Given the description of an element on the screen output the (x, y) to click on. 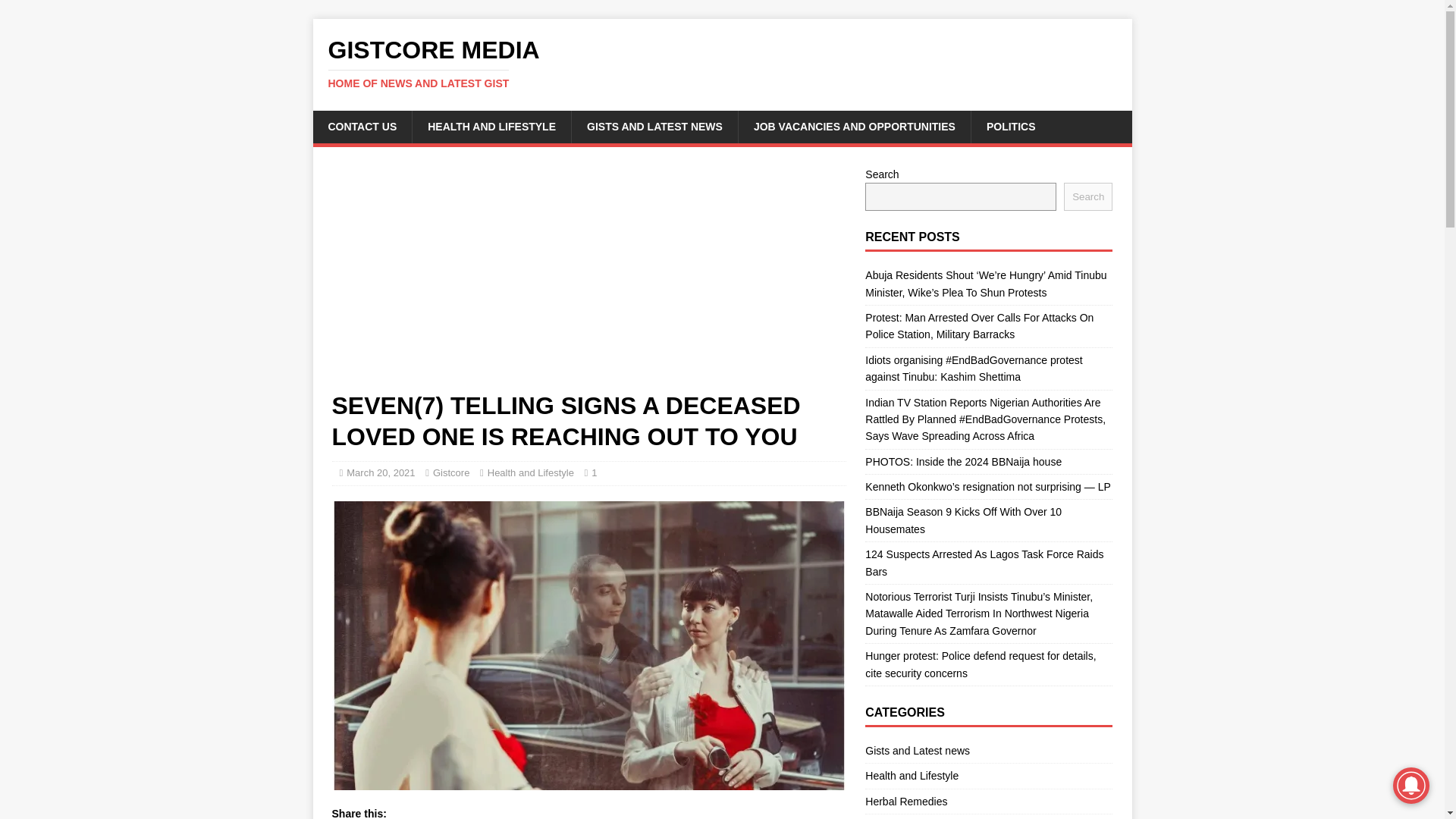
Gistcore (450, 472)
POLITICS (1011, 126)
JOB VACANCIES AND OPPORTUNITIES (854, 126)
PHOTOS: Inside the 2024 BBNaija house (962, 461)
Health and Lifestyle (530, 472)
HEALTH AND LIFESTYLE (491, 126)
March 20, 2021 (380, 472)
CONTACT US (362, 126)
GISTS AND LATEST NEWS (654, 126)
Gistcore  media (721, 63)
Advertisement (721, 63)
Search (588, 277)
